Given the description of an element on the screen output the (x, y) to click on. 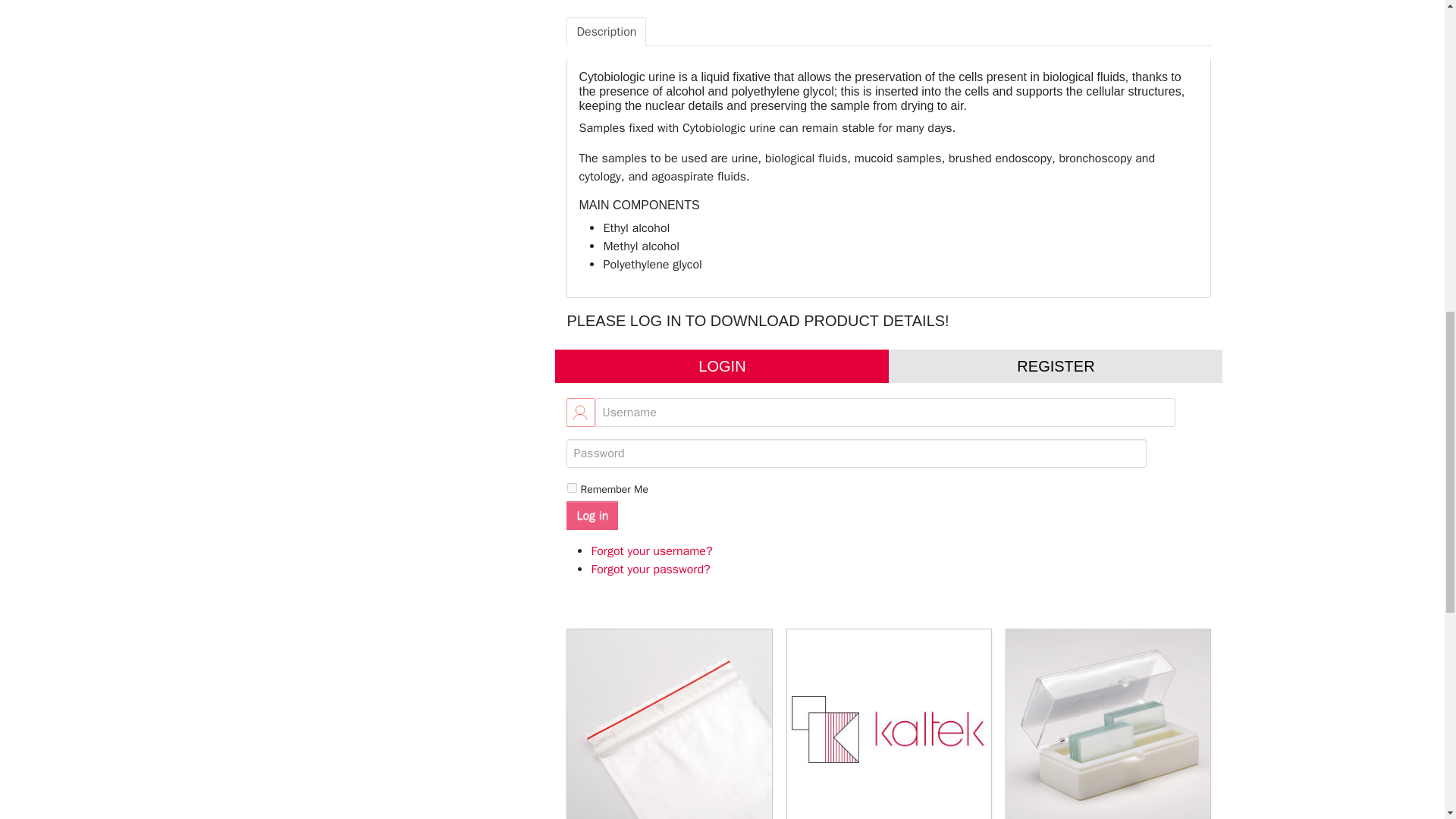
yes (572, 488)
